Given the description of an element on the screen output the (x, y) to click on. 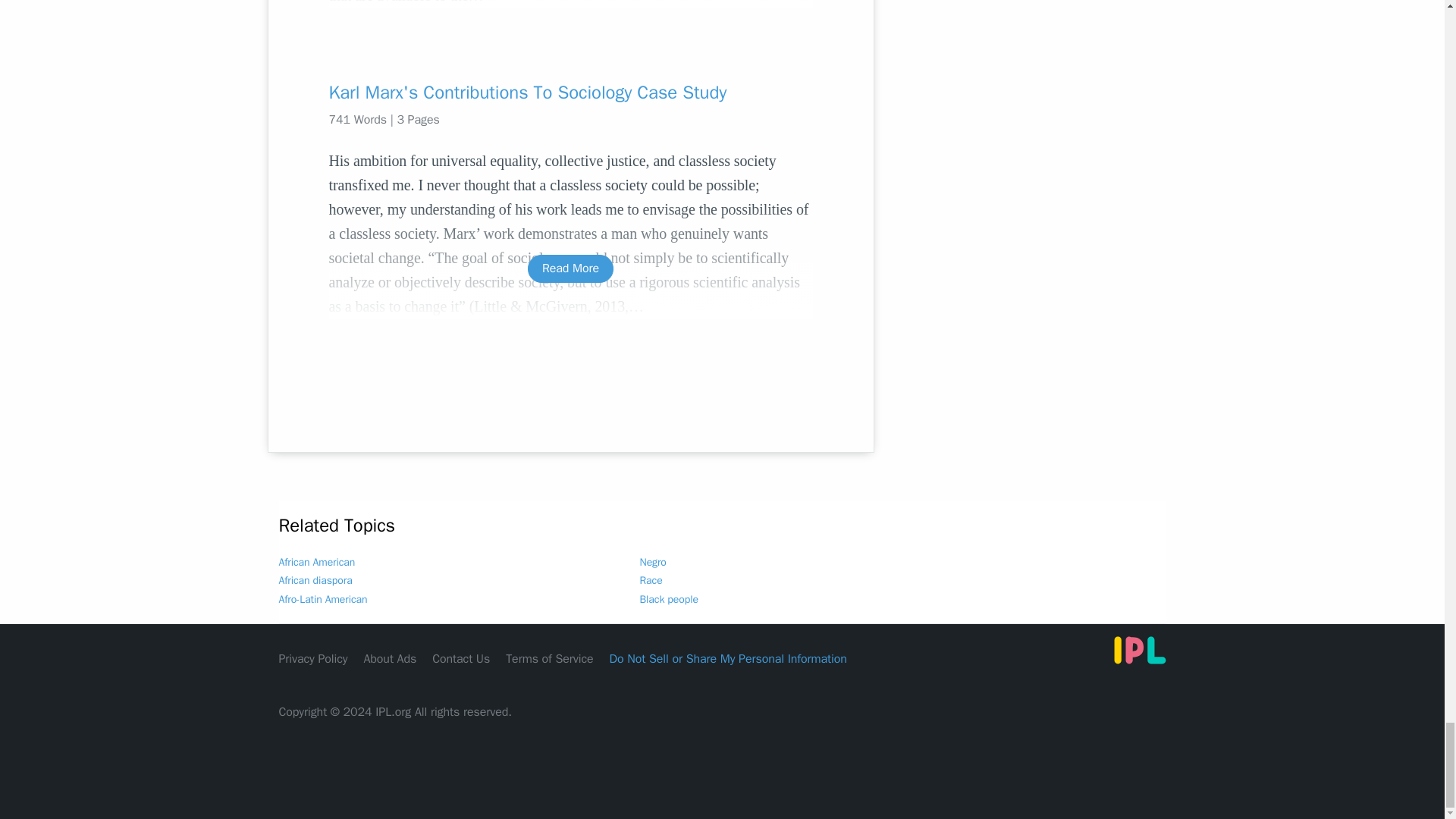
African American (317, 562)
Negro (653, 562)
Contact Us (460, 658)
Terms of Service (548, 658)
Afro-Latin American (323, 599)
African diaspora (315, 580)
Privacy Policy (313, 658)
Race (651, 580)
Black people (669, 599)
About Ads (389, 658)
